Given the description of an element on the screen output the (x, y) to click on. 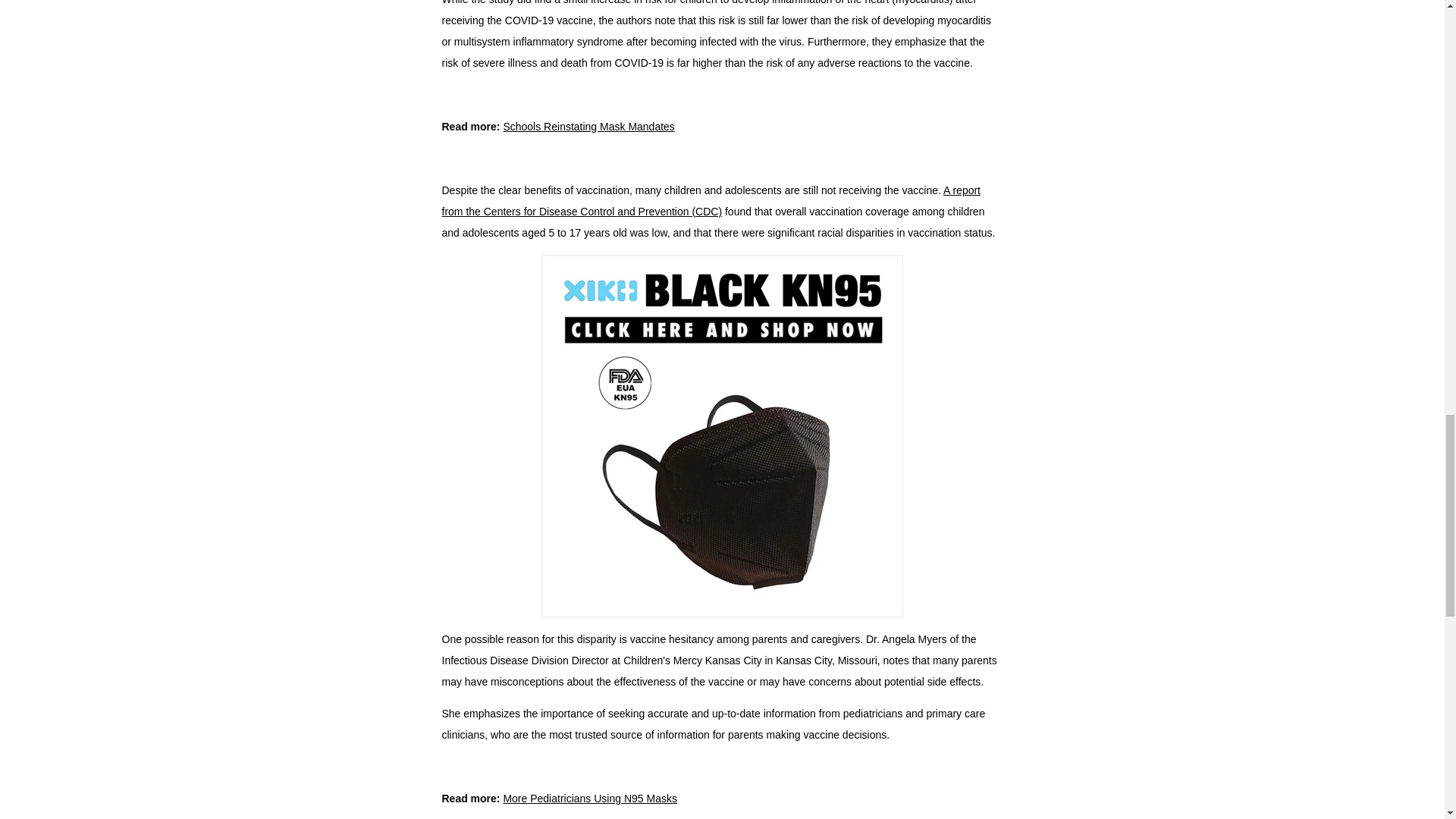
Schools Reinstating Mask Mandates (588, 126)
too few children are getting vaccinated (710, 200)
More Pediatricians Using N95 Masks (589, 798)
